Given the description of an element on the screen output the (x, y) to click on. 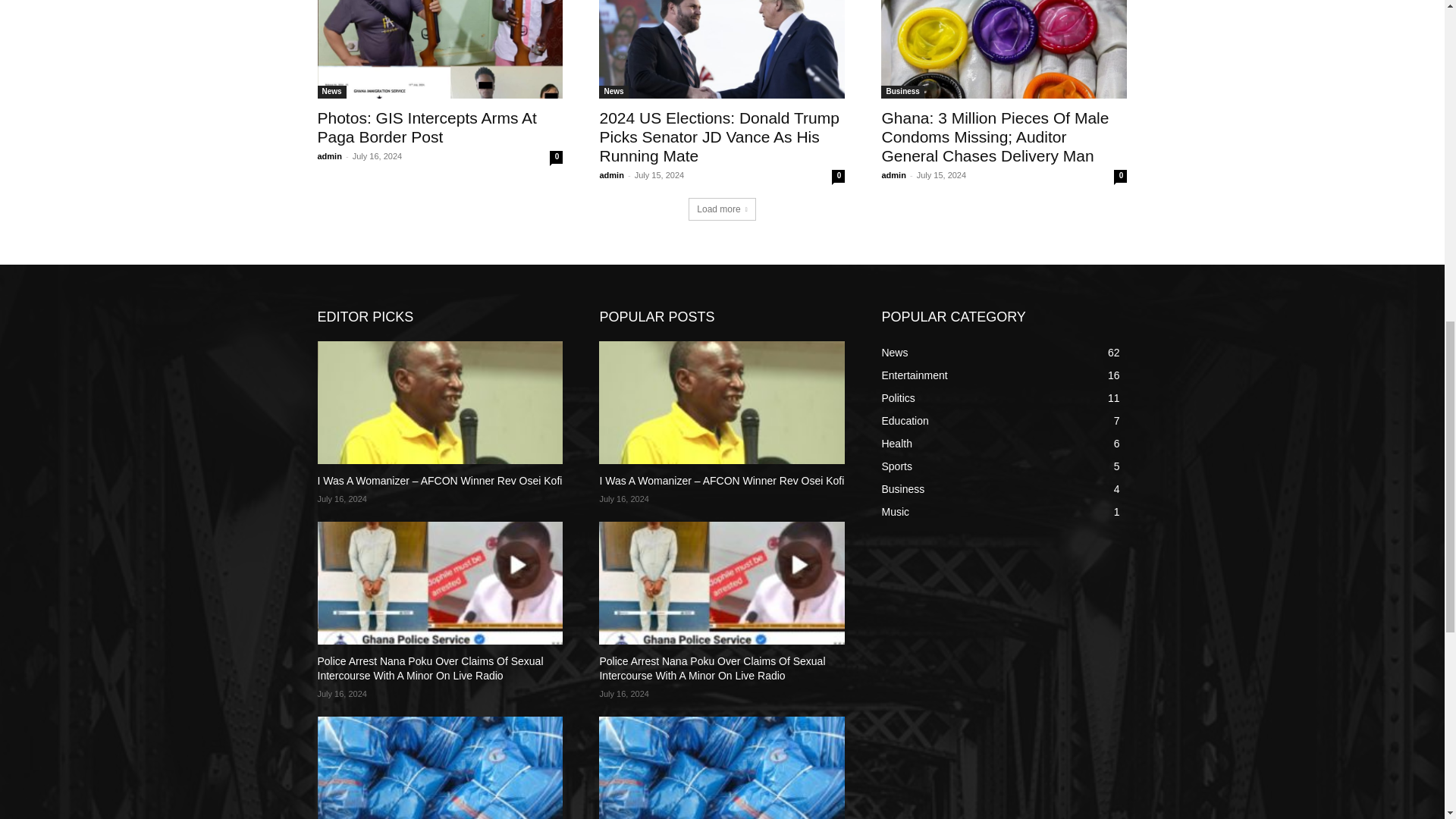
Photos: GIS Intercepts Arms At Paga Border Post (439, 49)
Photos: GIS Intercepts Arms At Paga Border Post (426, 126)
